Given the description of an element on the screen output the (x, y) to click on. 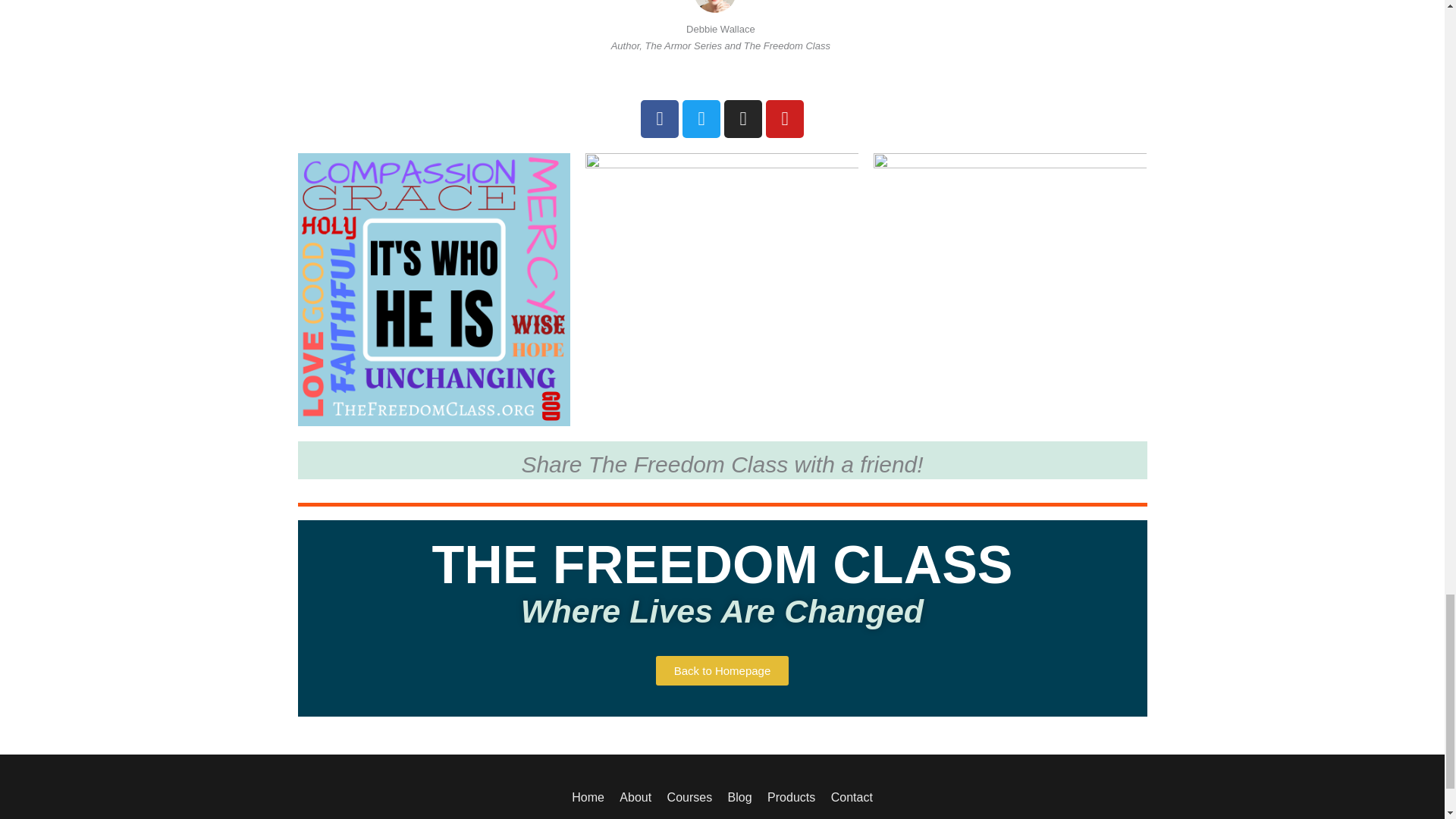
Home (591, 797)
Courses (690, 797)
Products (791, 797)
Contact (848, 797)
Back to Homepage (722, 670)
Blog (740, 797)
About (635, 797)
